Given the description of an element on the screen output the (x, y) to click on. 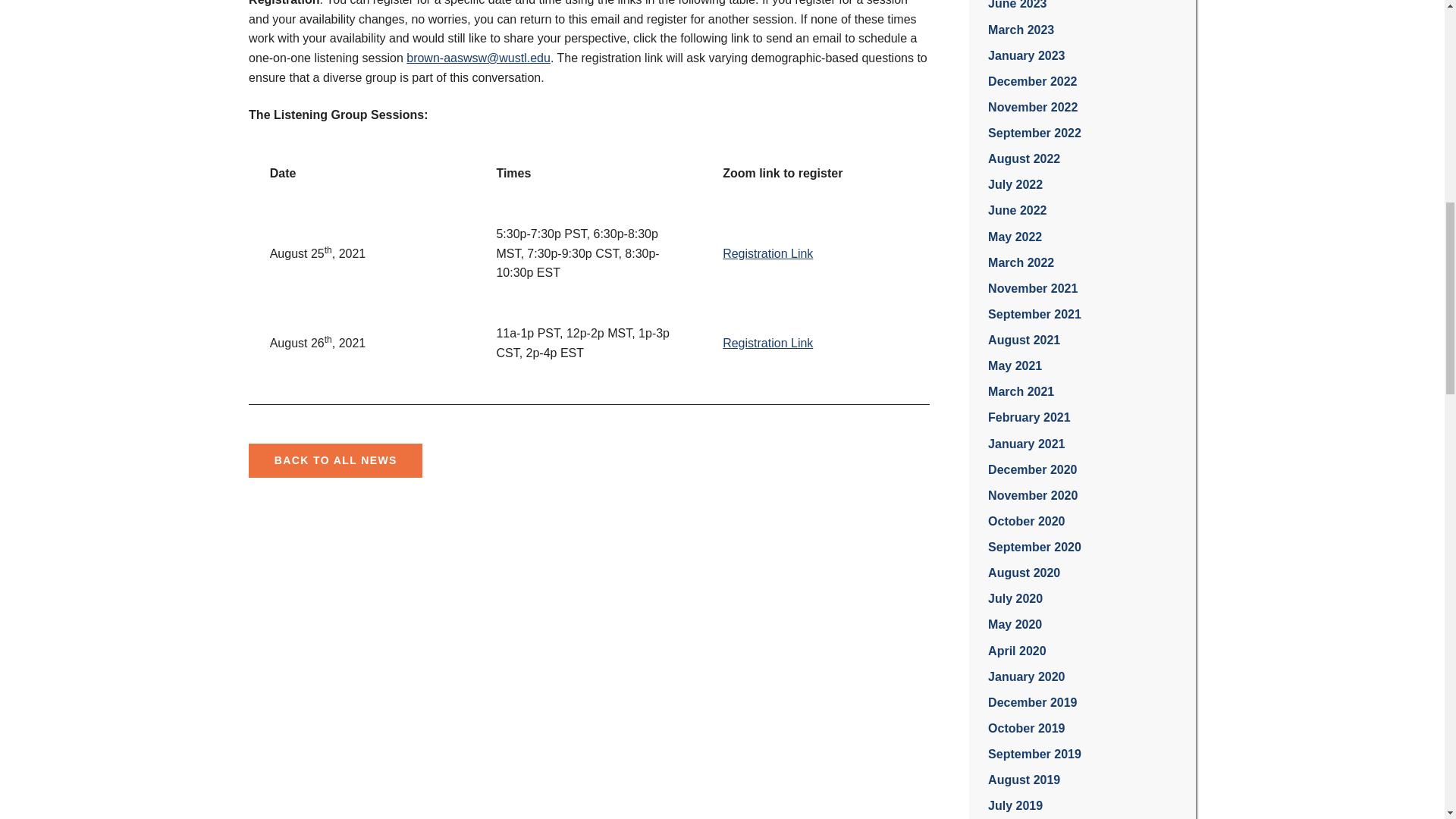
BACK TO ALL NEWS (335, 460)
Registration Link (767, 253)
Registration Link (767, 342)
